Given the description of an element on the screen output the (x, y) to click on. 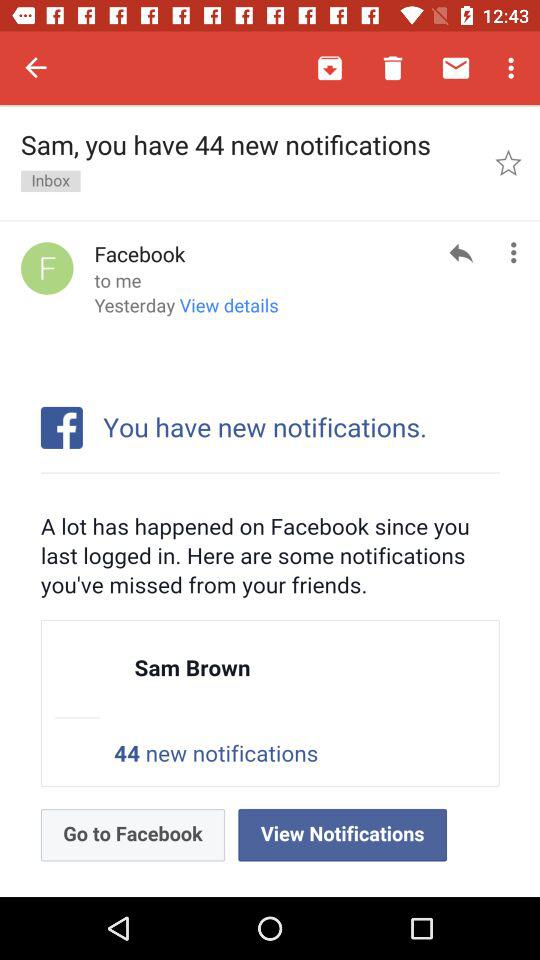
scroll to the sam you have icon (248, 162)
